Given the description of an element on the screen output the (x, y) to click on. 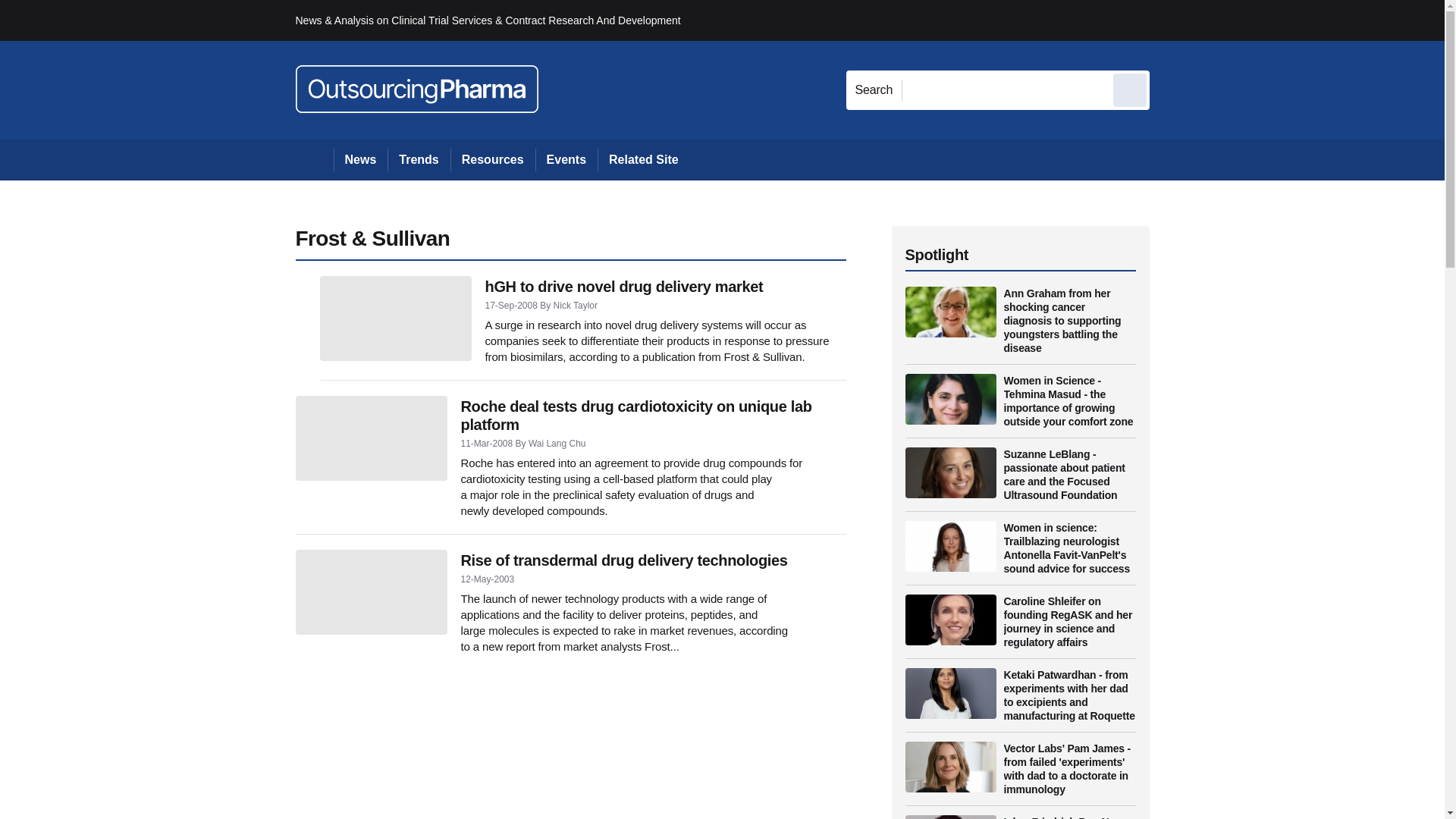
View full article (395, 318)
Trends (418, 159)
Sign in (1171, 20)
REGISTER (1250, 20)
My account (1256, 20)
Sign out (1174, 20)
Send (1129, 90)
OutsourcingPharma (416, 89)
Home (313, 159)
View full article (370, 437)
